Given the description of an element on the screen output the (x, y) to click on. 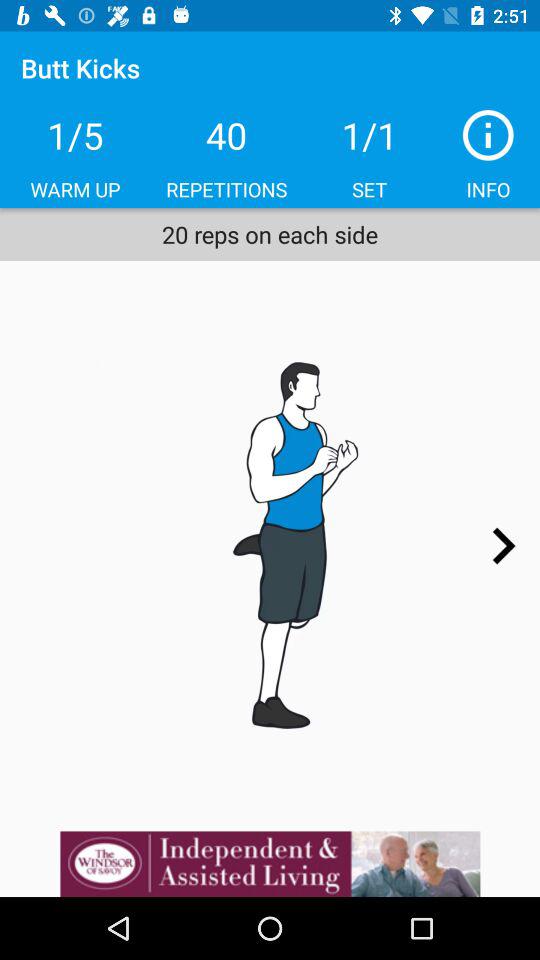
go to next (503, 545)
